Given the description of an element on the screen output the (x, y) to click on. 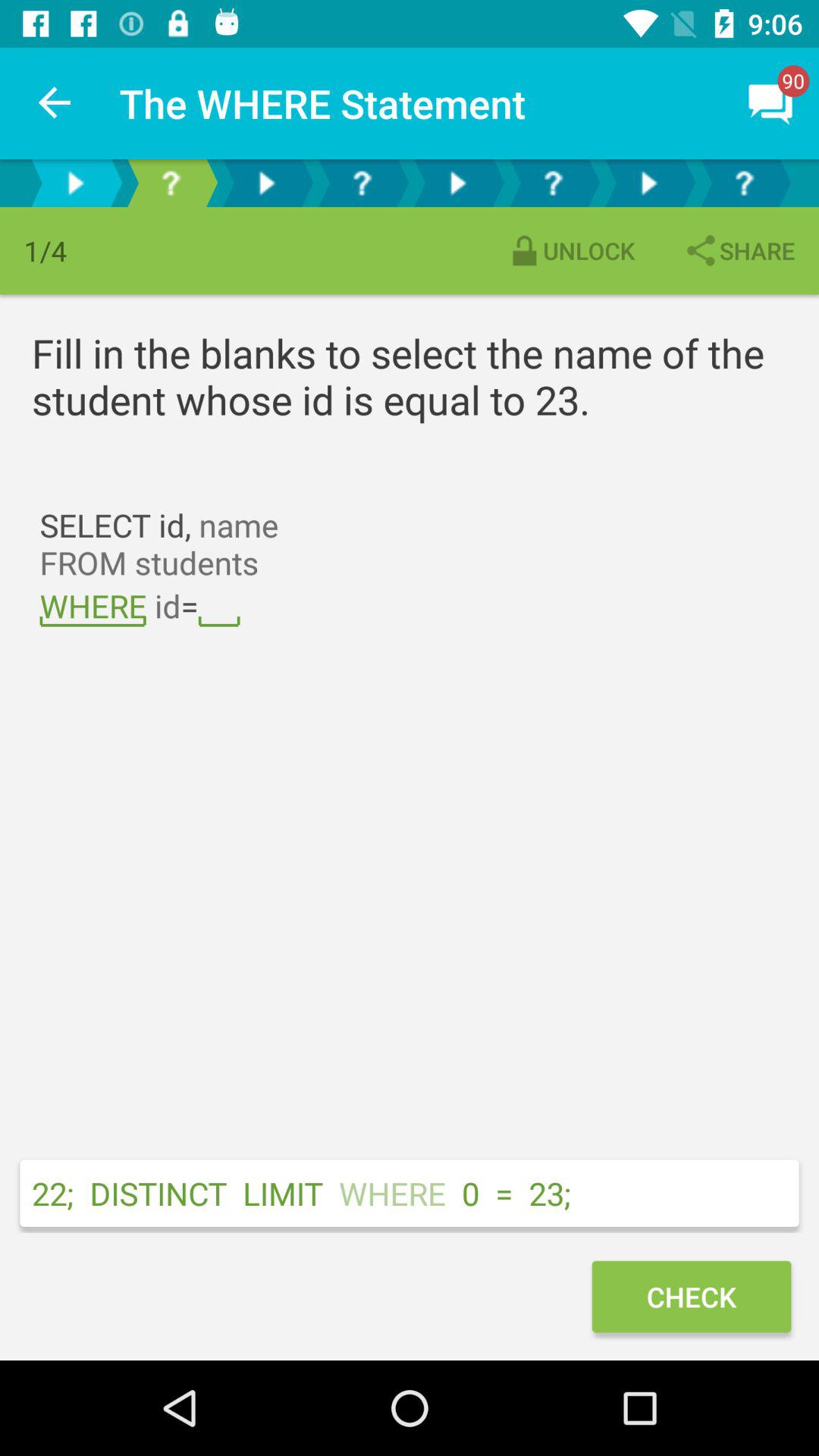
turn on the icon to the left of share icon (570, 250)
